Given the description of an element on the screen output the (x, y) to click on. 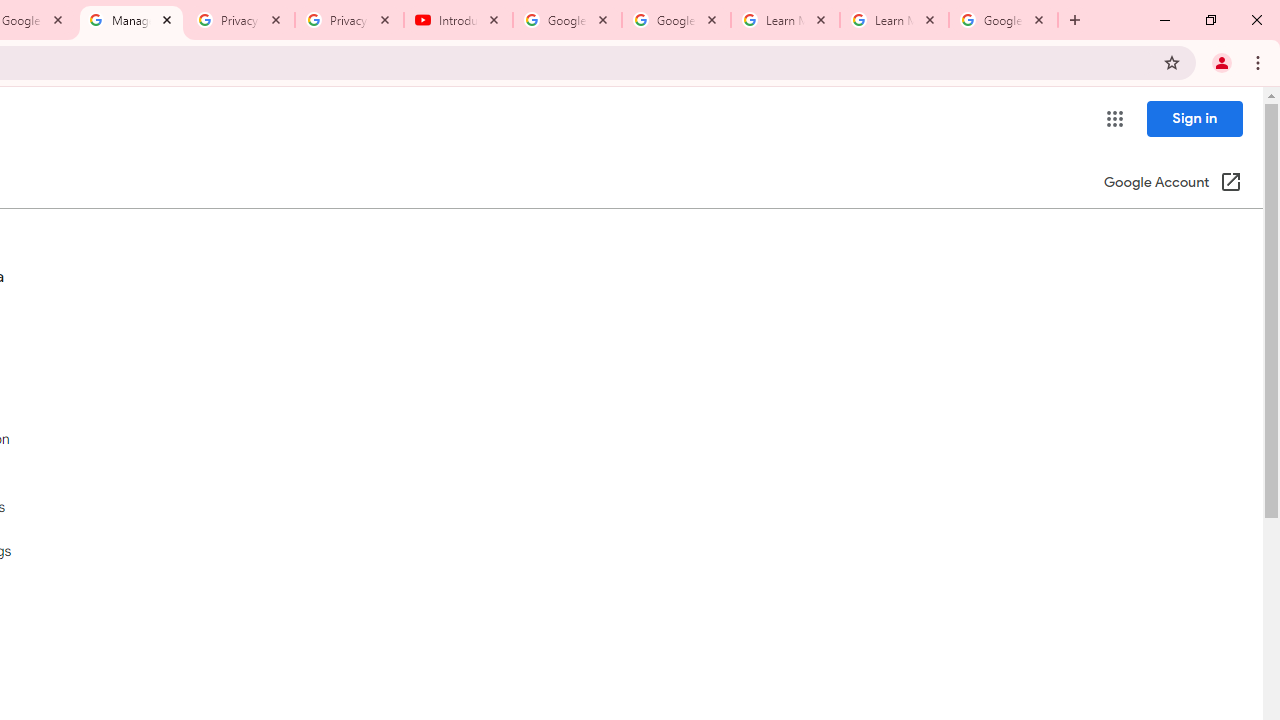
Google Account Help (567, 20)
Google Account (Open in a new window) (1172, 183)
